Given the description of an element on the screen output the (x, y) to click on. 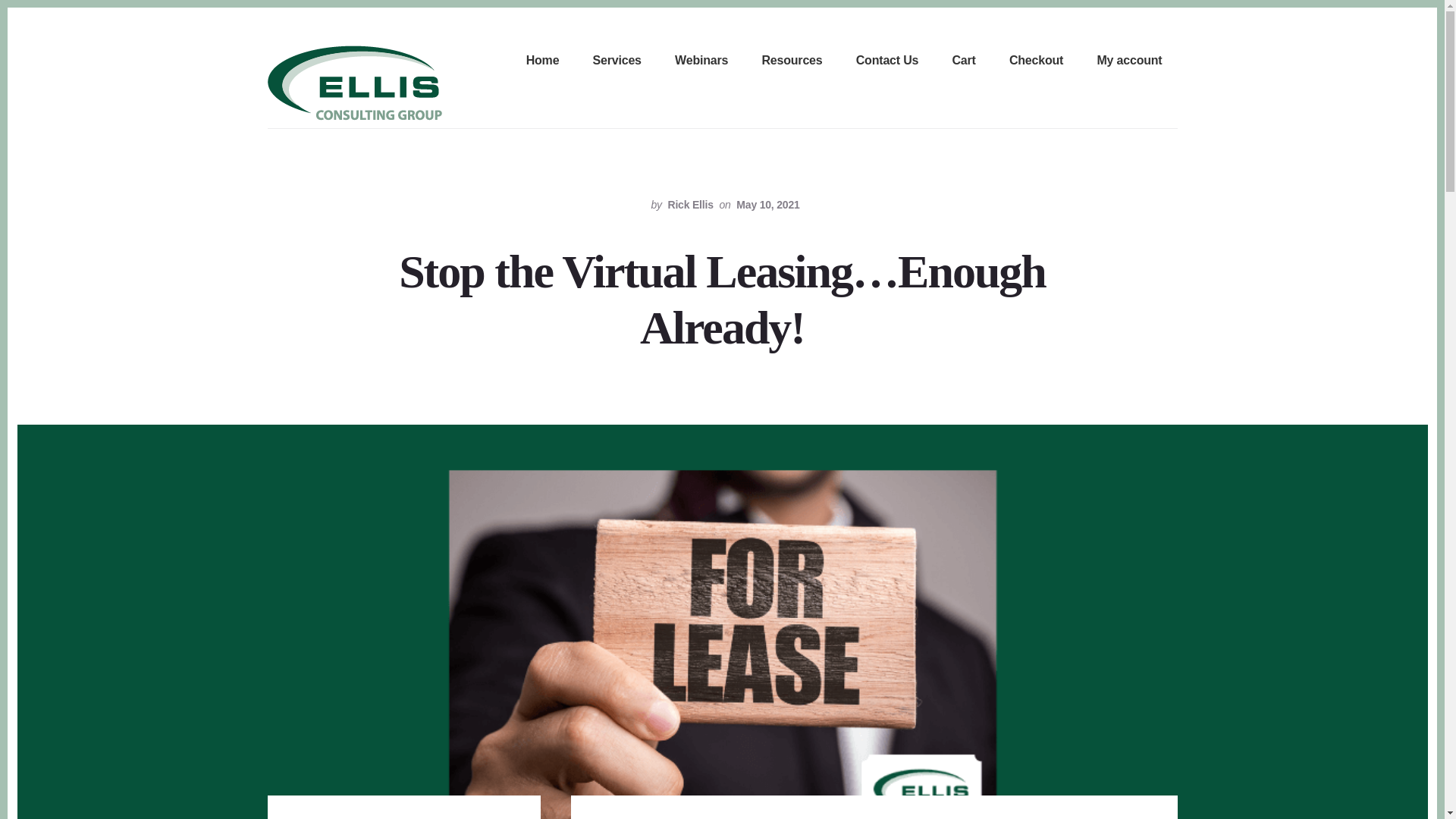
Rick Ellis (689, 204)
Home (542, 61)
Contact Us (887, 61)
Resources (791, 61)
My account (1128, 61)
Services (617, 61)
Checkout (1035, 61)
Webinars (700, 61)
